Given the description of an element on the screen output the (x, y) to click on. 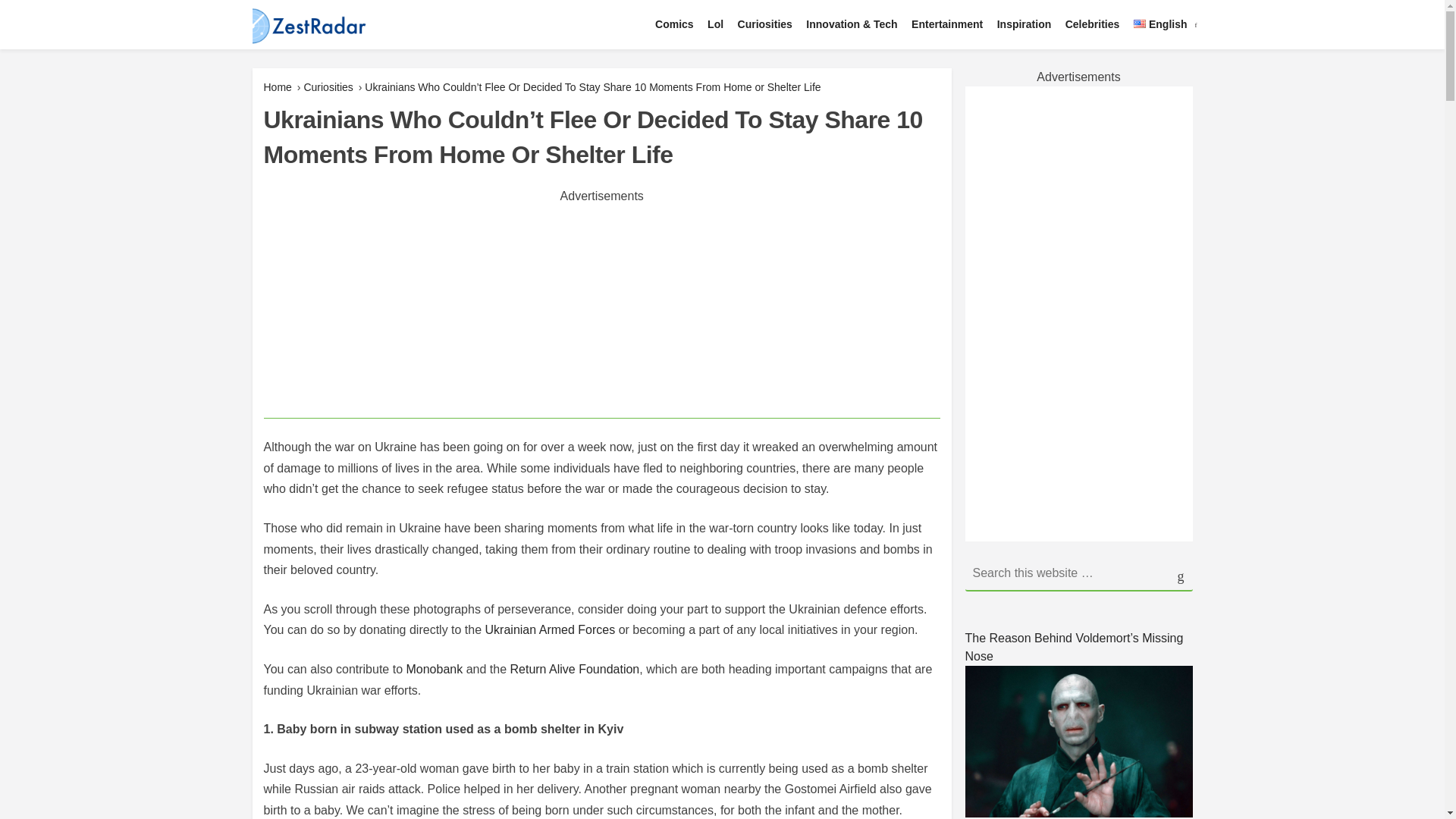
Curiosities (764, 24)
Return Alive Foundation (574, 668)
Celebrities (1092, 24)
Home (277, 87)
Comics (673, 24)
Zestradar (288, 63)
Inspiration (1024, 24)
Monobank (434, 668)
English (1160, 24)
Ukrainian Armed Forces (549, 629)
Curiosities (327, 87)
Entertainment (946, 24)
